Given the description of an element on the screen output the (x, y) to click on. 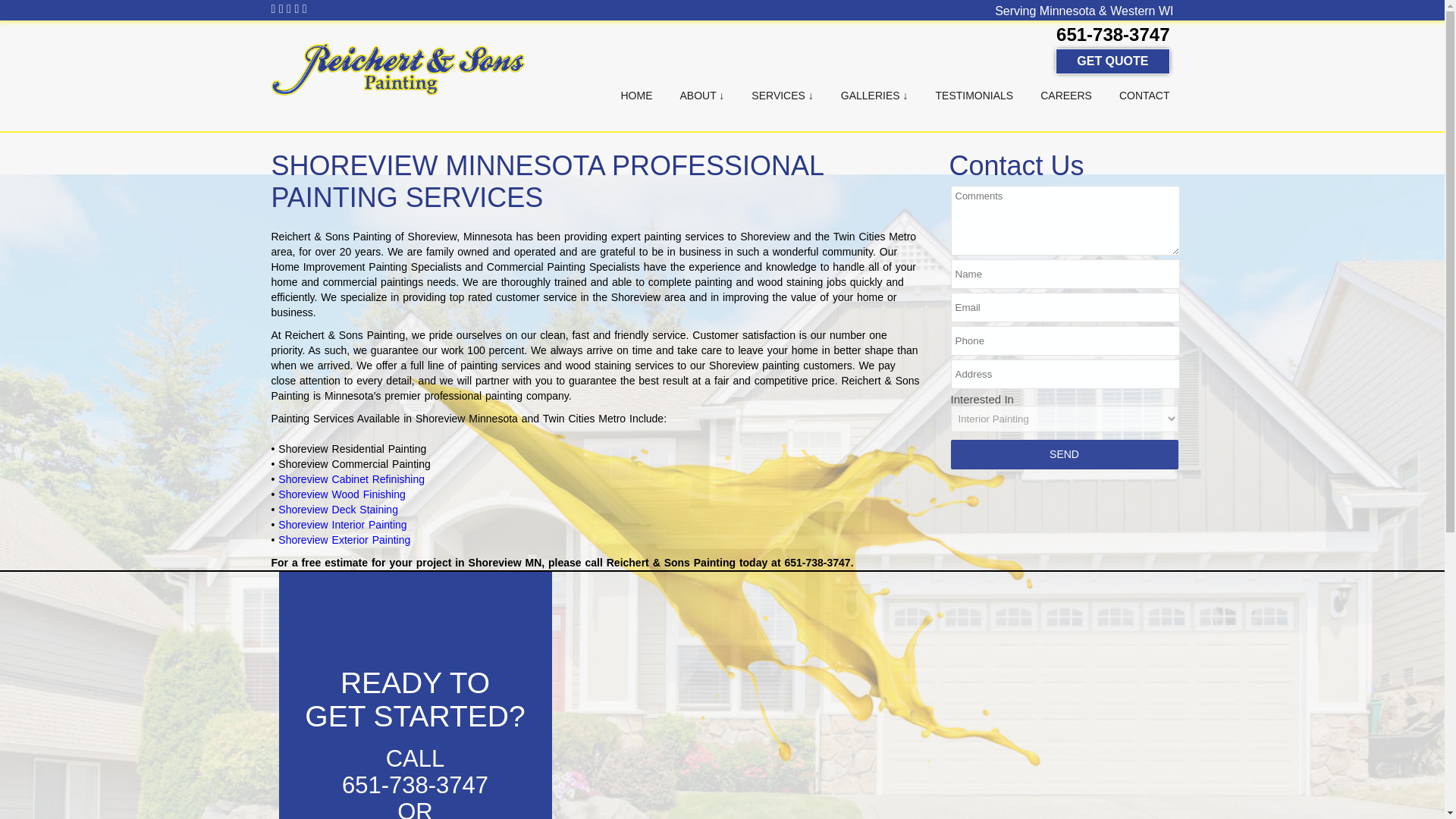
GET QUOTE (1112, 61)
send (1063, 454)
HOME (636, 94)
